Given the description of an element on the screen output the (x, y) to click on. 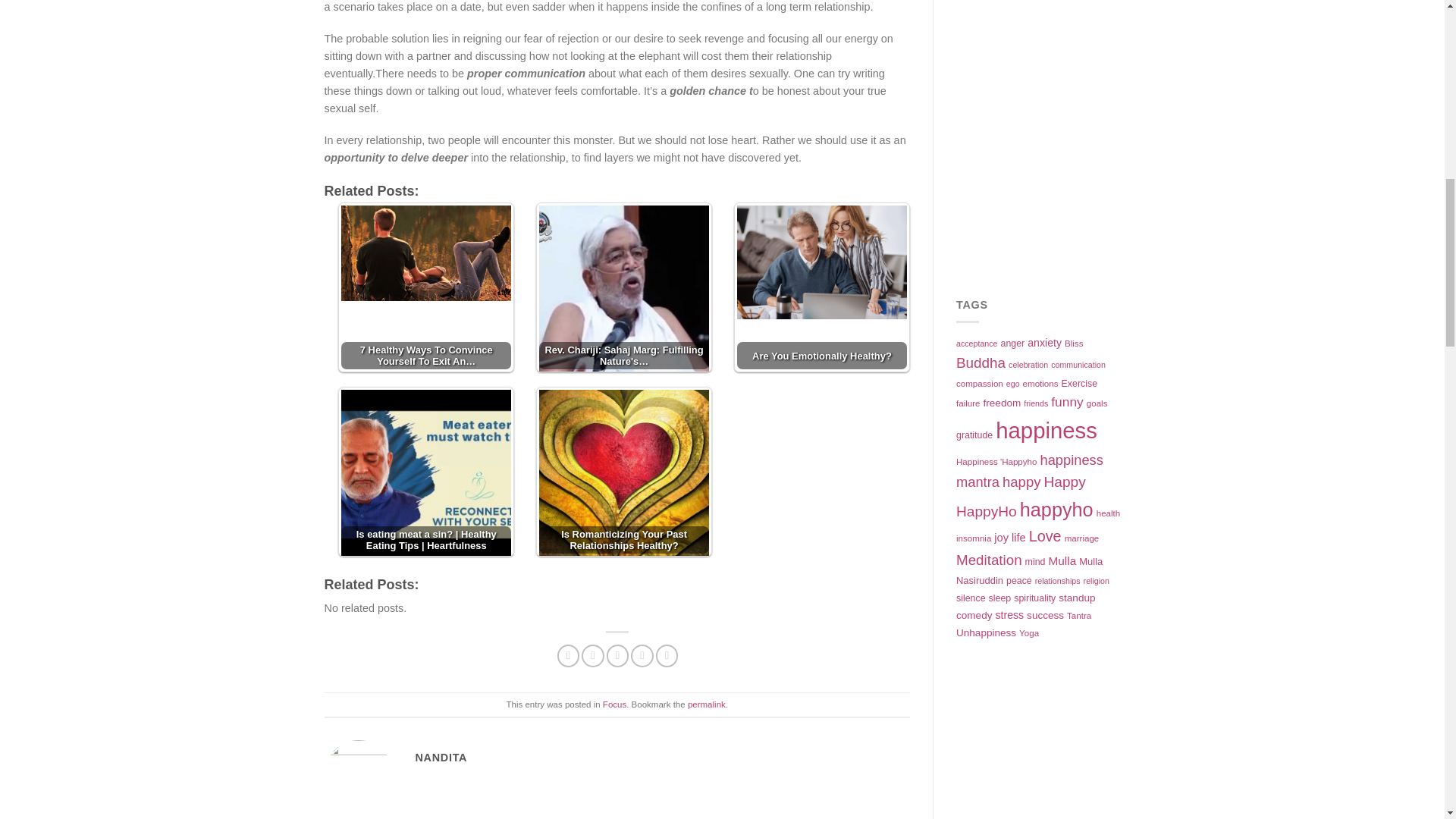
Is Romanticizing Your Past Relationships Healthy? (623, 474)
Are You Emotionally Healthy? (821, 262)
